Given the description of an element on the screen output the (x, y) to click on. 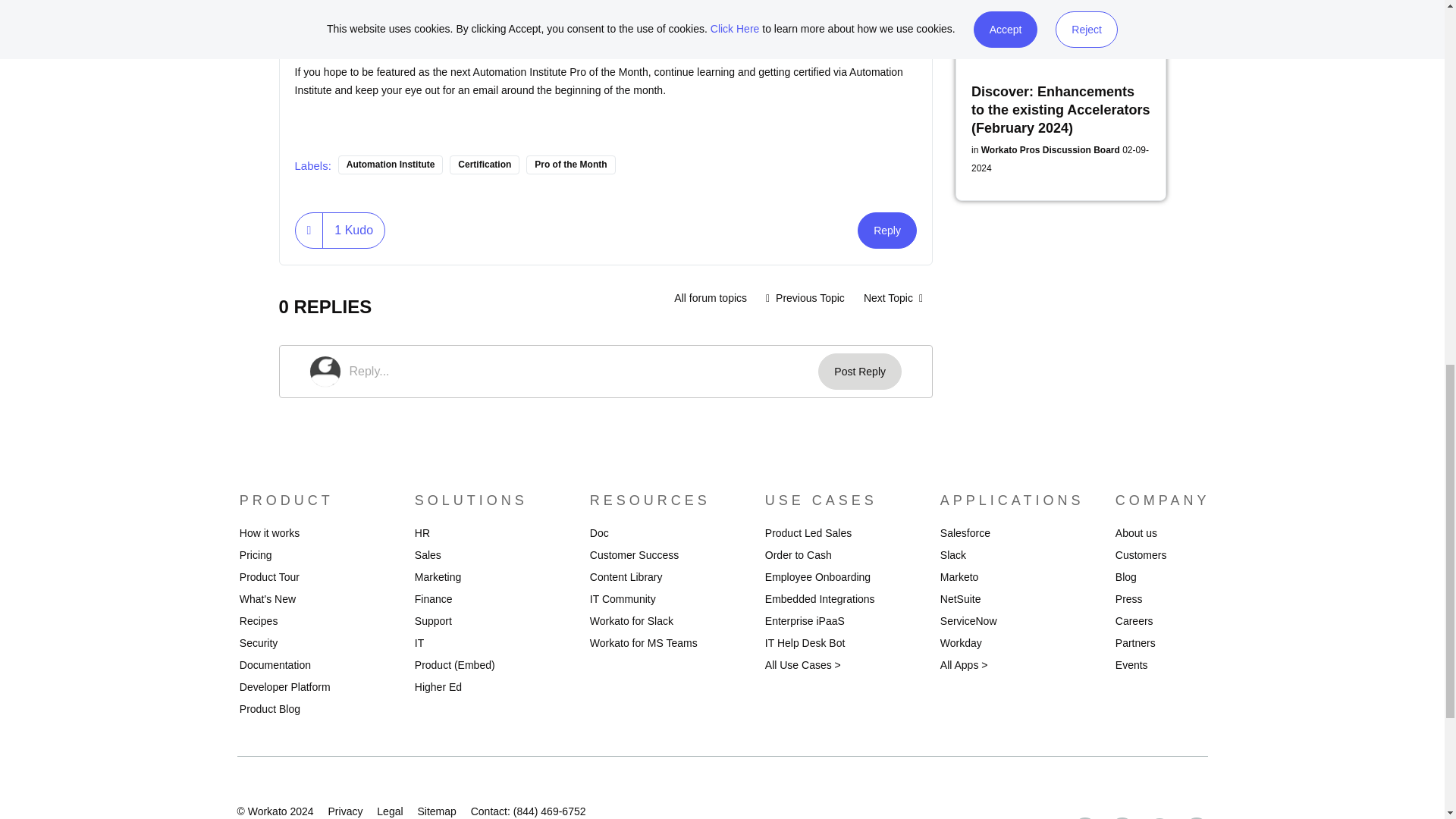
Frame 3.png (445, 4)
Automation Institute Discussion (710, 297)
Click here to see who gave kudos to this post. (353, 230)
